Given the description of an element on the screen output the (x, y) to click on. 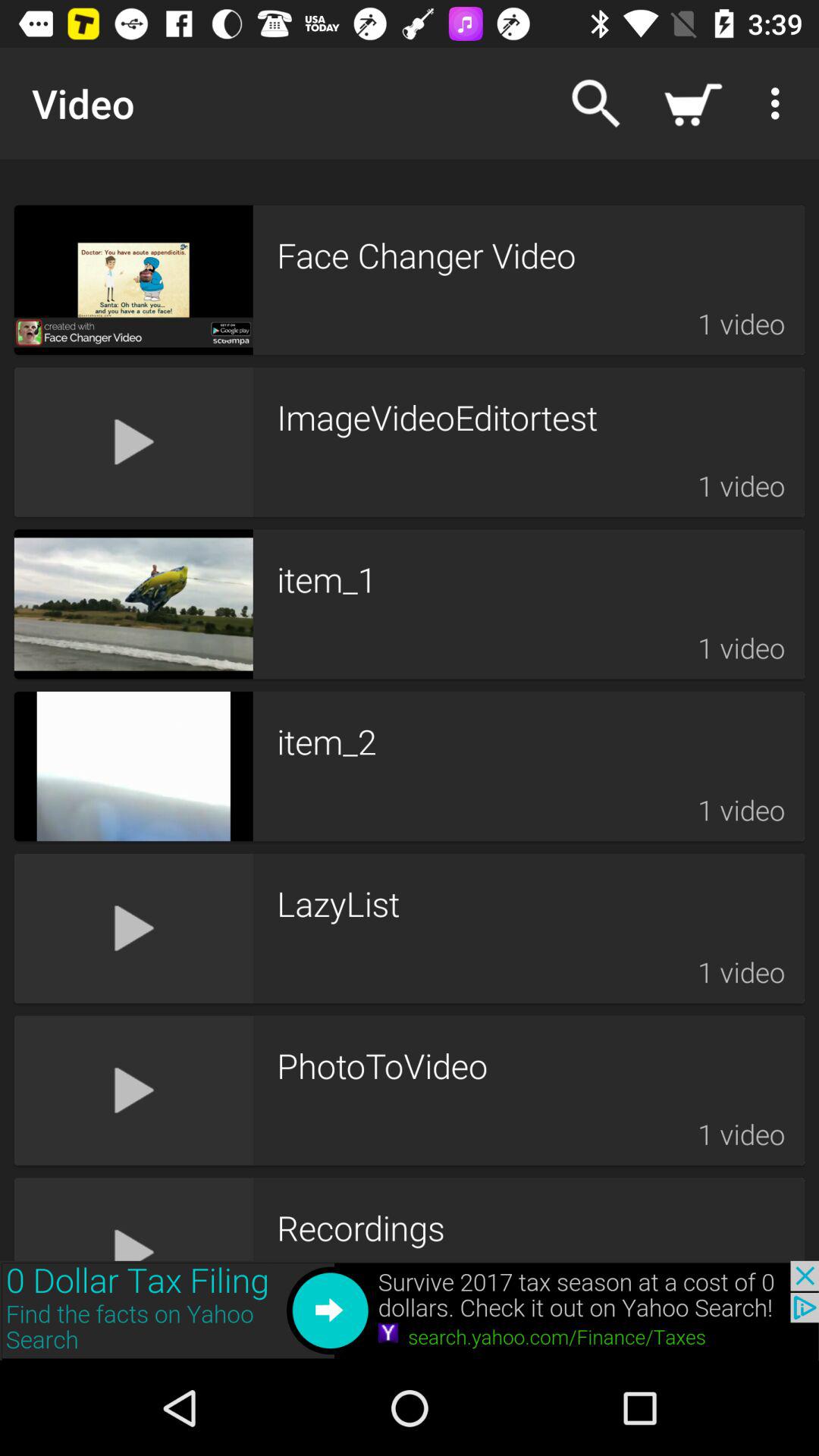
to view add (409, 1310)
